Given the description of an element on the screen output the (x, y) to click on. 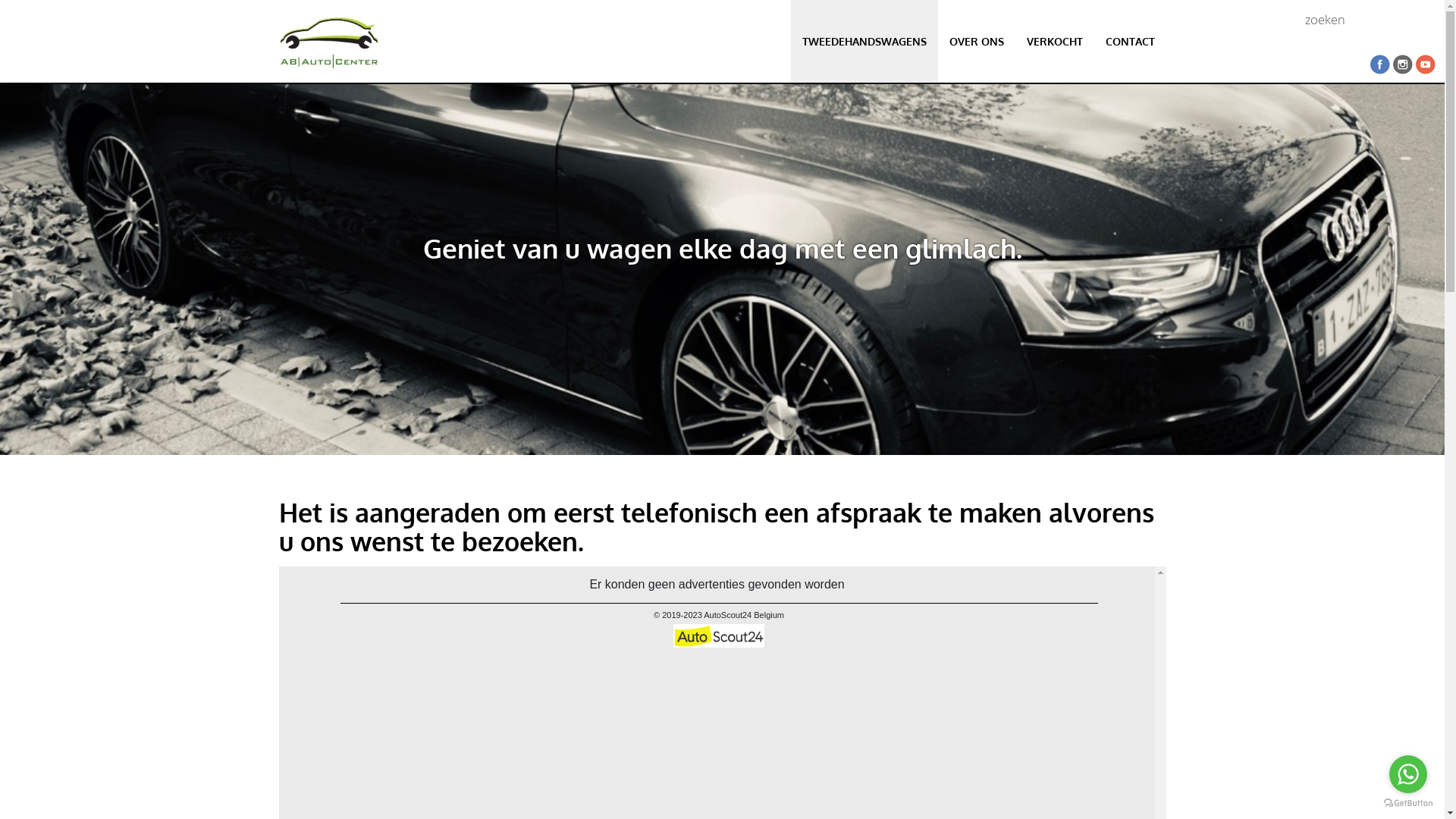
Verzenden Element type: text (1425, 20)
CONTACT Element type: text (1129, 41)
TWEEDEHANDSWAGENS Element type: text (863, 41)
VERKOCHT Element type: text (1053, 41)
OVER ONS Element type: text (975, 41)
